Given the description of an element on the screen output the (x, y) to click on. 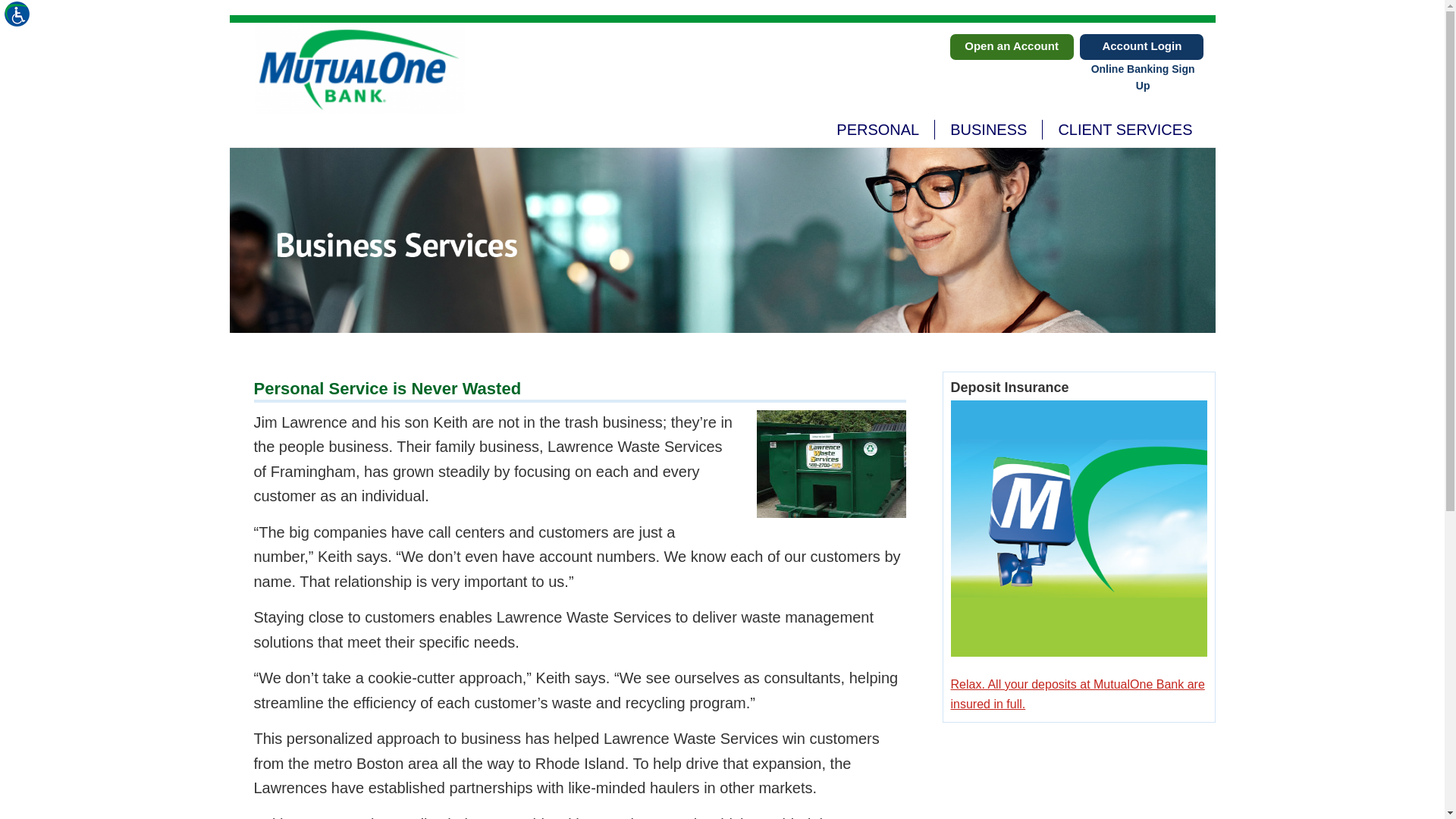
PERSONAL (877, 129)
CLIENT SERVICES (1124, 129)
BUSINESS (988, 129)
MutualOne Bank (359, 67)
Open an Account (1011, 46)
Accessibility Helper sidebar (18, 18)
Account Login (1014, 129)
Online Banking Sign Up (1142, 46)
Skip to primary navigation (1142, 77)
